Given the description of an element on the screen output the (x, y) to click on. 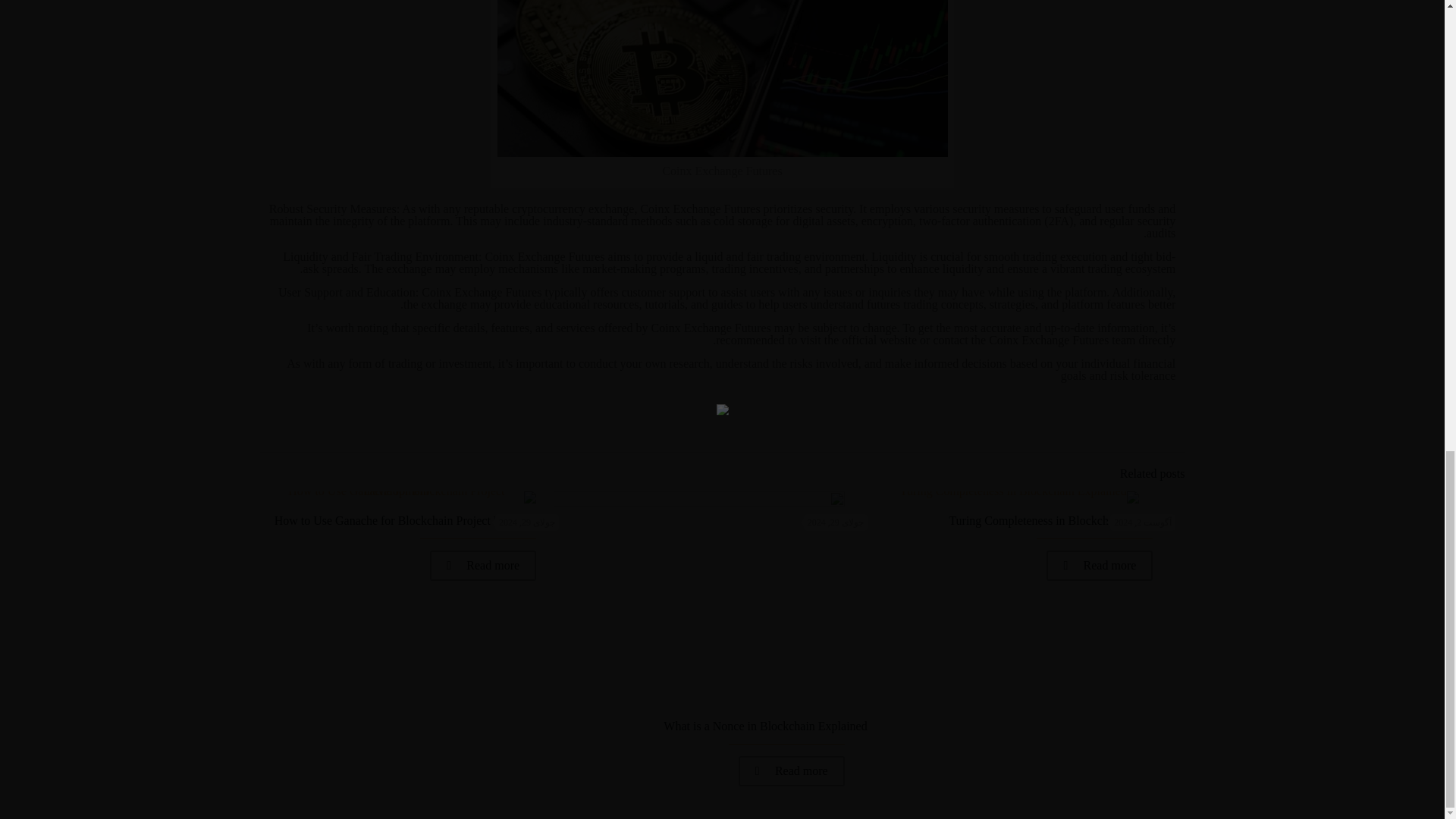
What is a Nonce in Blockchain Explained (764, 725)
Read more (482, 565)
How to Use Ganache for Blockchain Project Development (417, 520)
Read more (1099, 565)
Read more (791, 770)
Turing Completeness in Blockchain Explained (1061, 520)
